Given the description of an element on the screen output the (x, y) to click on. 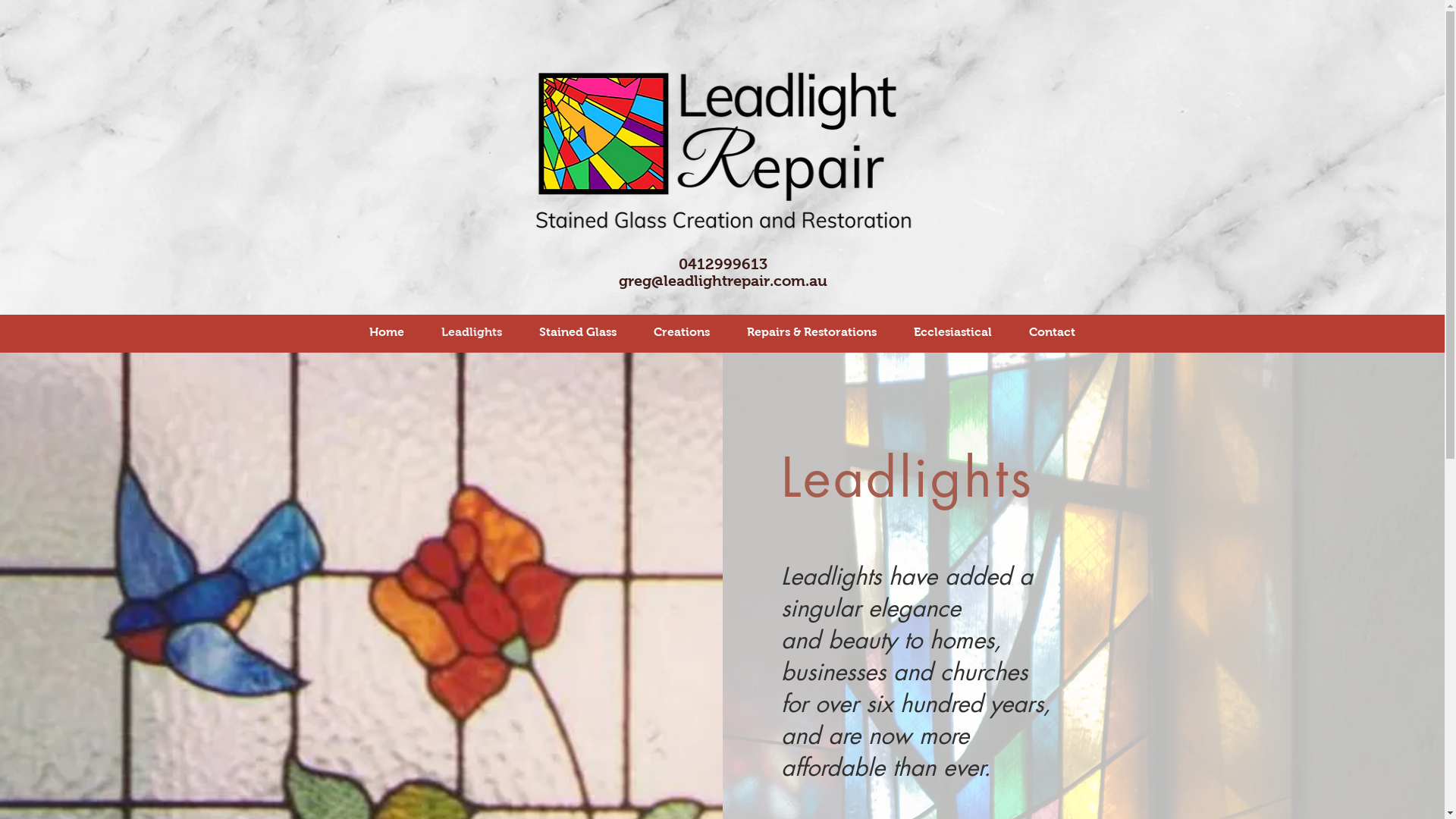
Ecclesiastical Element type: text (952, 331)
Leadlights Element type: text (471, 331)
greg@leadlightrepair.com.au Element type: text (722, 280)
Stained Glass Element type: text (577, 331)
Creations Element type: text (681, 331)
Repairs & Restorations Element type: text (811, 331)
Home Element type: text (386, 331)
Contact Element type: text (1051, 331)
